Given the description of an element on the screen output the (x, y) to click on. 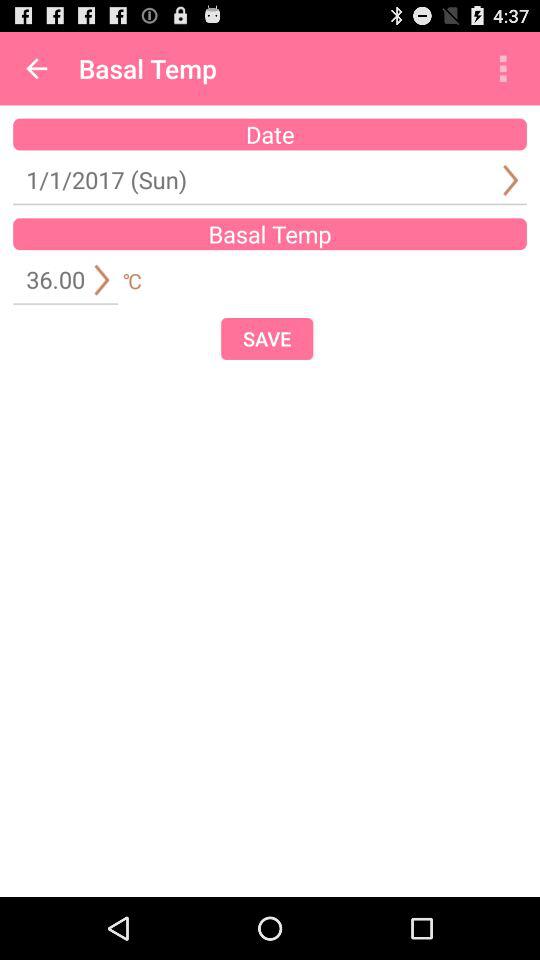
turn on save item (267, 338)
